Given the description of an element on the screen output the (x, y) to click on. 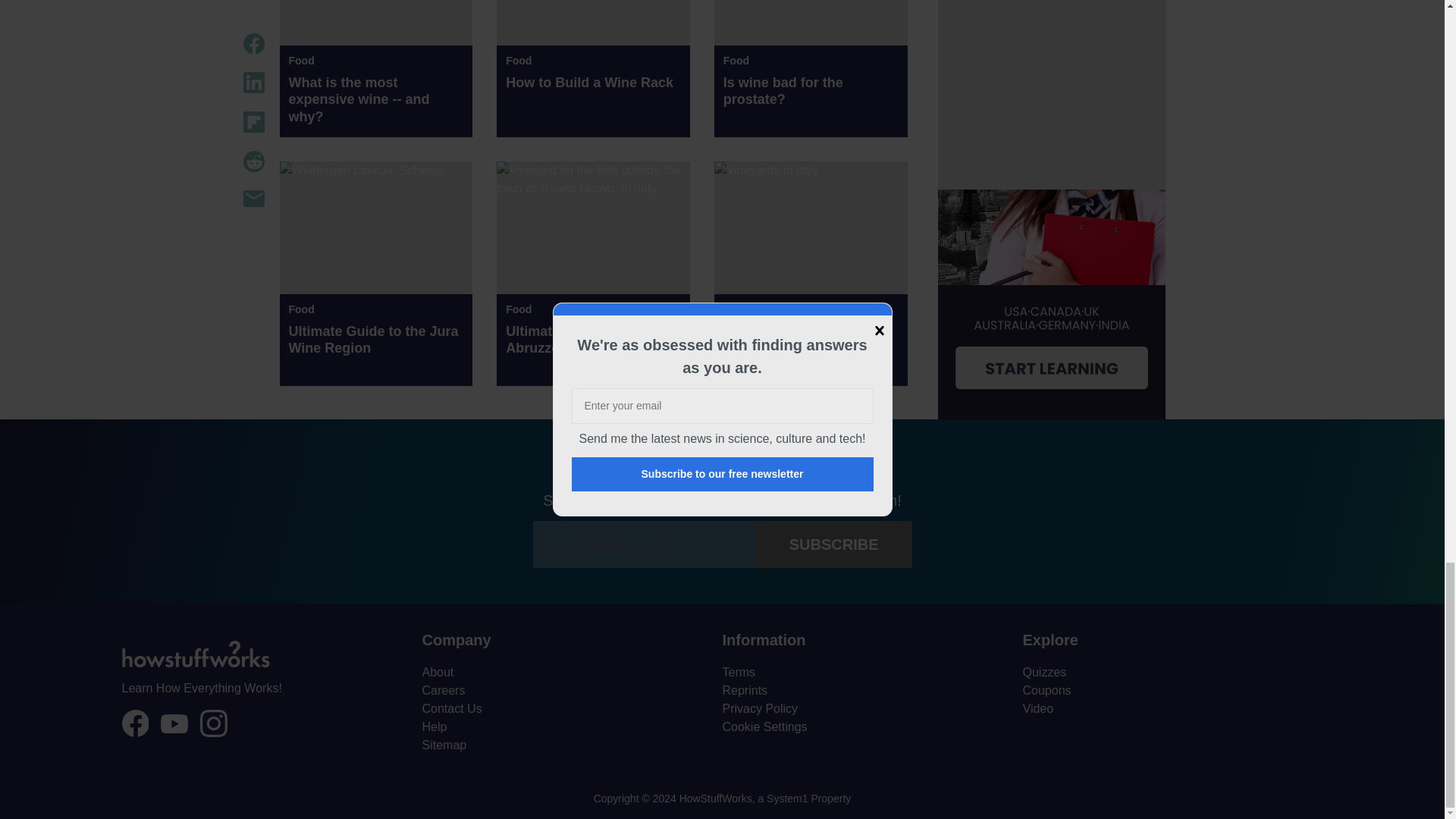
Subscribe (833, 544)
Visit HowStuffWorks on Instagram (213, 723)
Visit HowStuffWorks on YouTube (173, 723)
Visit HowStuffWorks on Facebook (134, 723)
